Given the description of an element on the screen output the (x, y) to click on. 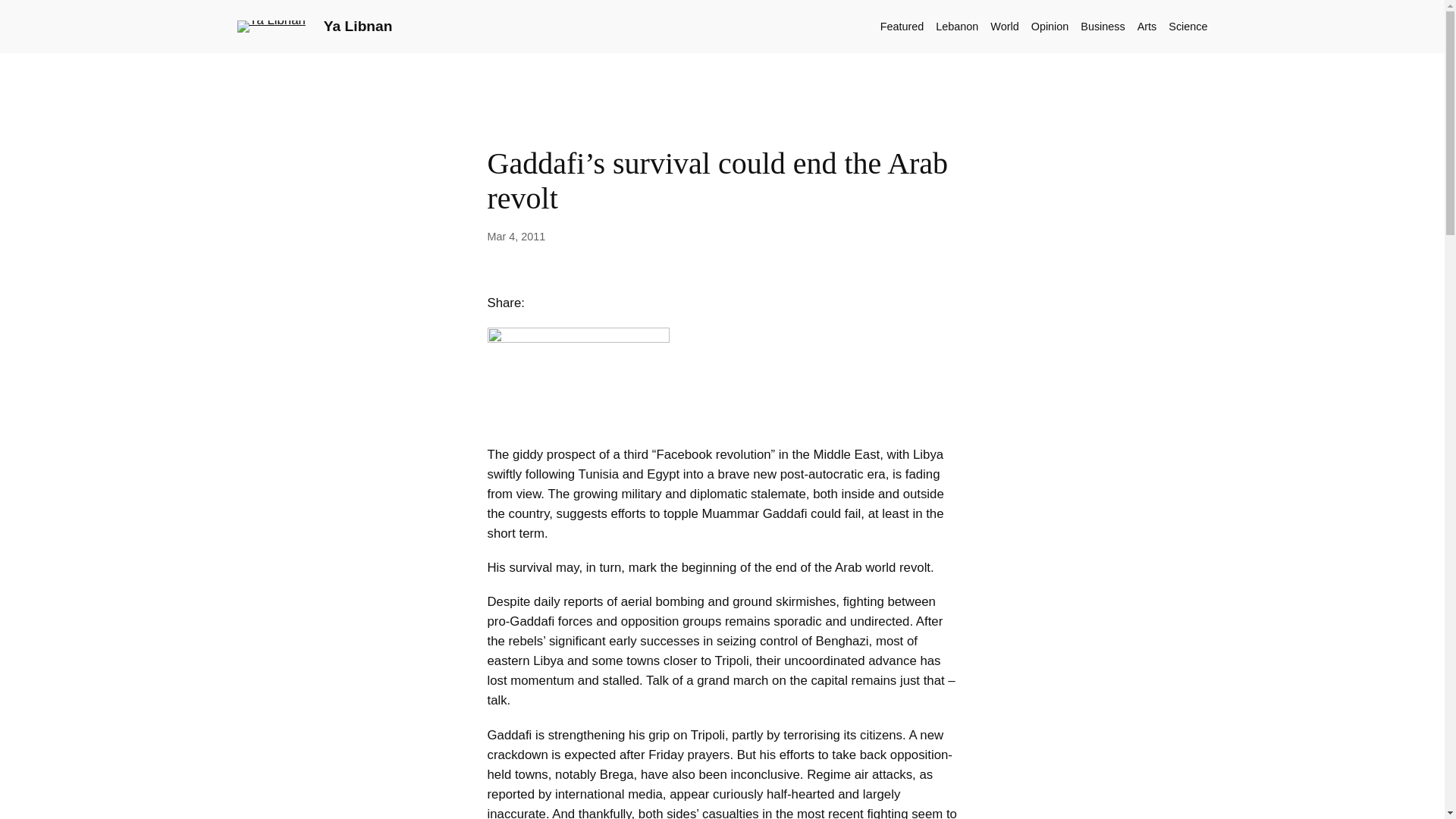
Lebanon (957, 26)
Science (1188, 26)
Opinion (1049, 26)
World (1003, 26)
gaddafi 12 (577, 378)
Featured (902, 26)
Ya Libnan (358, 26)
Mar 4, 2011 (515, 236)
Arts (1147, 26)
Business (1102, 26)
